Given the description of an element on the screen output the (x, y) to click on. 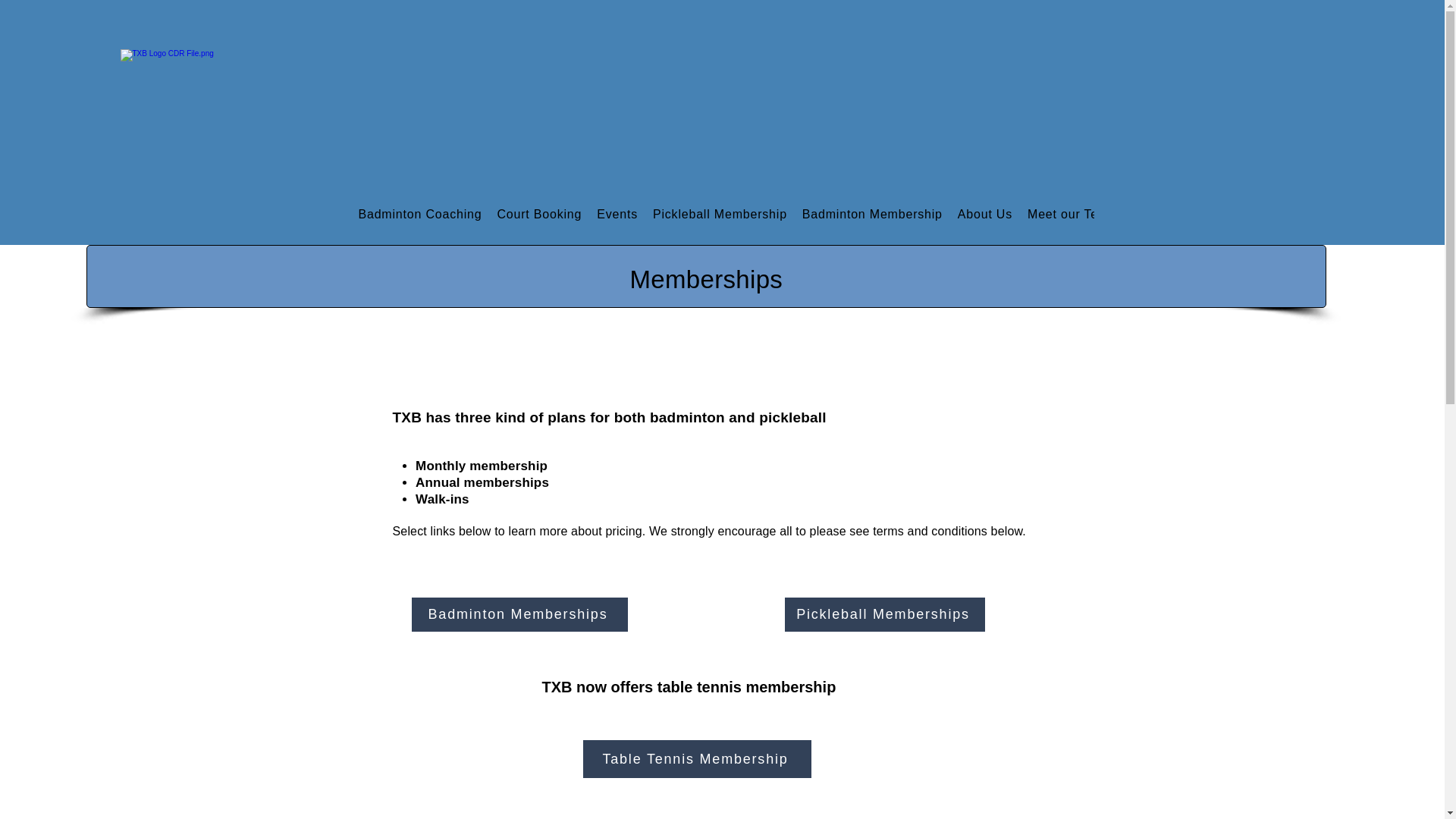
Table Tennis Membership (696, 759)
Badminton Memberships (518, 614)
Pickleball Memberships (884, 614)
Court Booking (539, 214)
Meet our Team (1072, 214)
Pickleball Membership (719, 214)
Badminton Membership (872, 214)
Events (617, 214)
About Us (985, 214)
Badminton Coaching (419, 214)
